Given the description of an element on the screen output the (x, y) to click on. 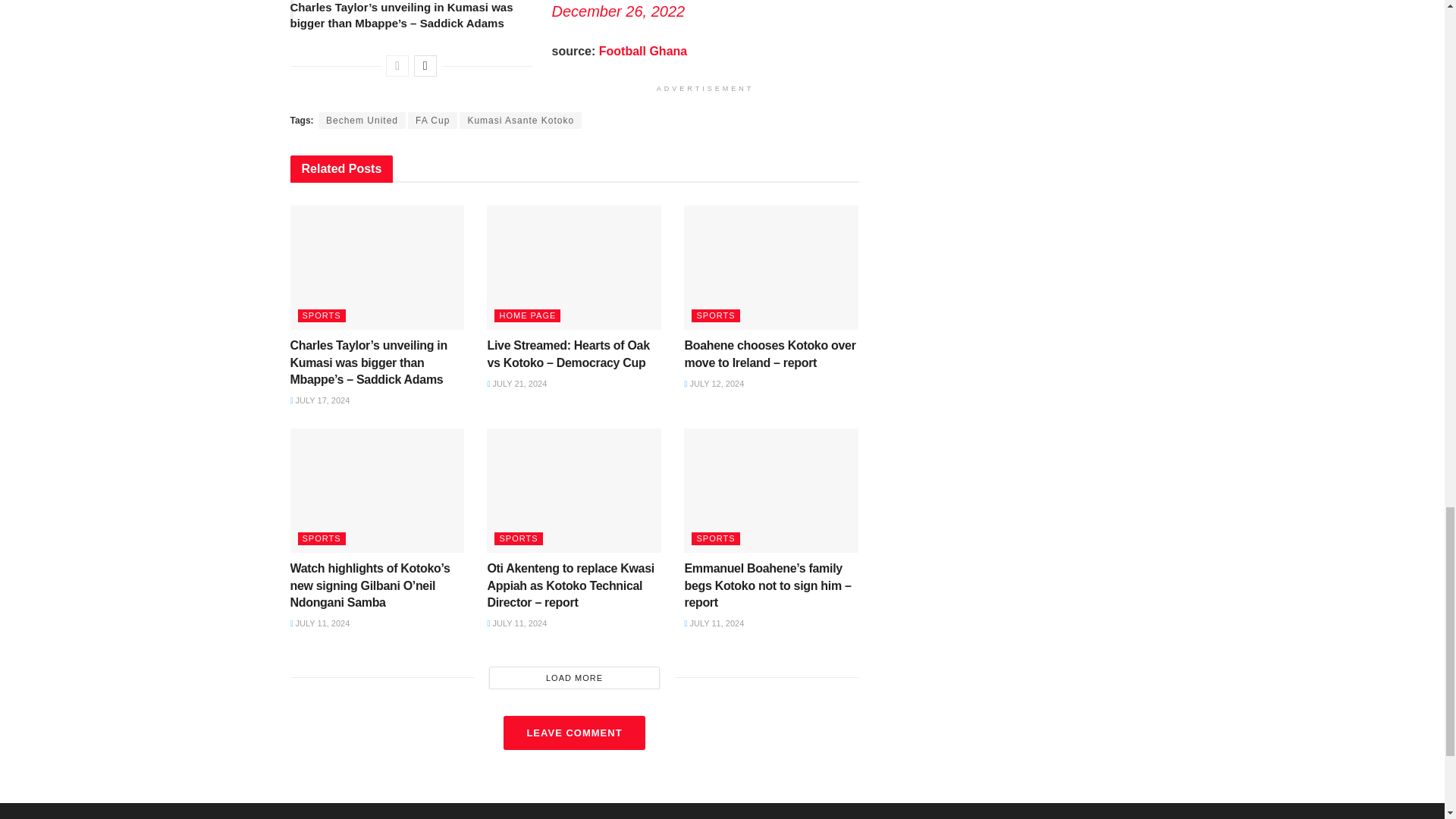
Next (424, 65)
Previous (397, 65)
